Given the description of an element on the screen output the (x, y) to click on. 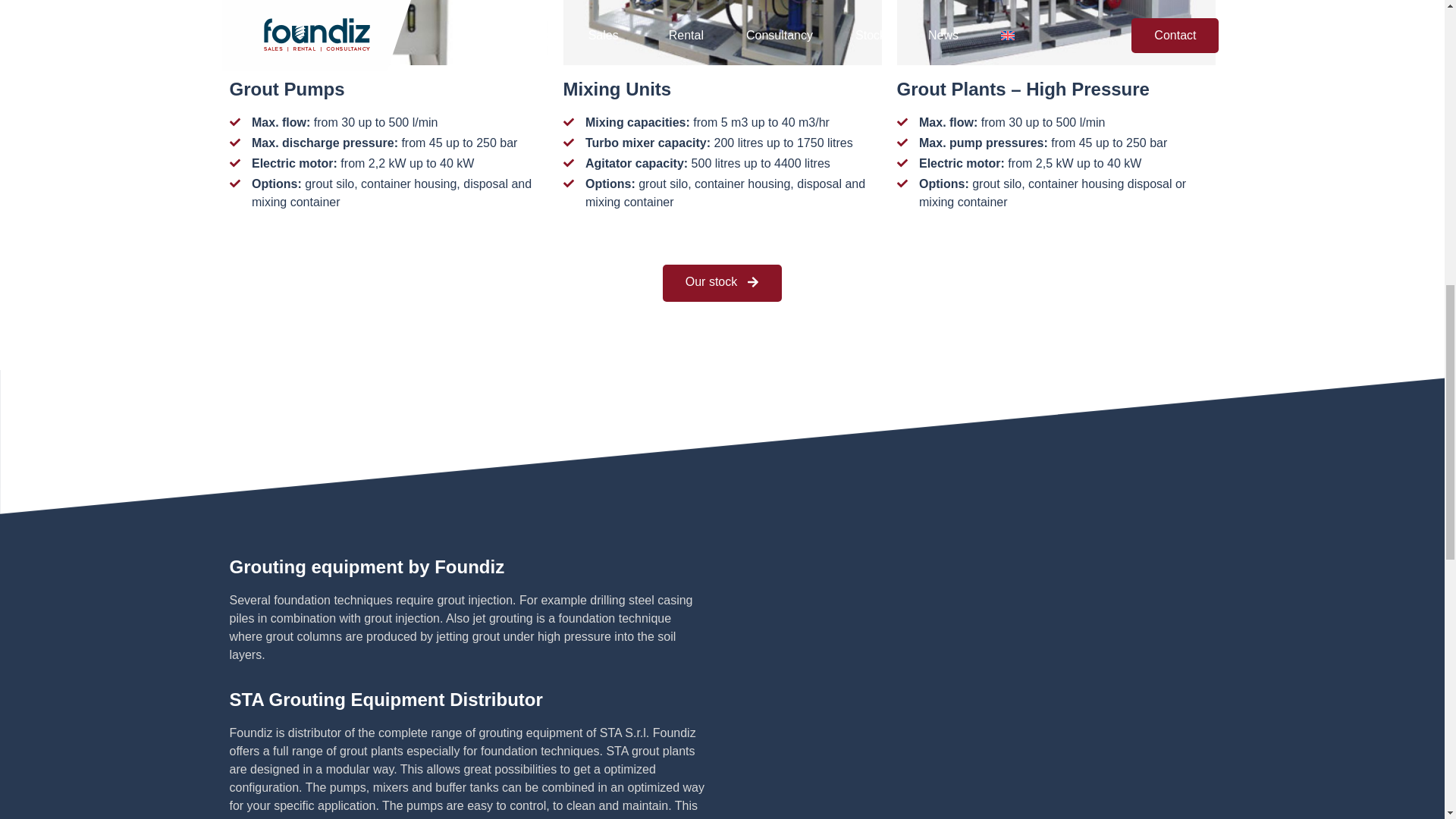
Mixing-units-pic-10m3-automatic (1055, 33)
Mixing-and-grouting-units-7m3vertical-pump (721, 33)
Mixing-and-grouting-units-7m3vertical-pump-kopieren (387, 33)
